Given the description of an element on the screen output the (x, y) to click on. 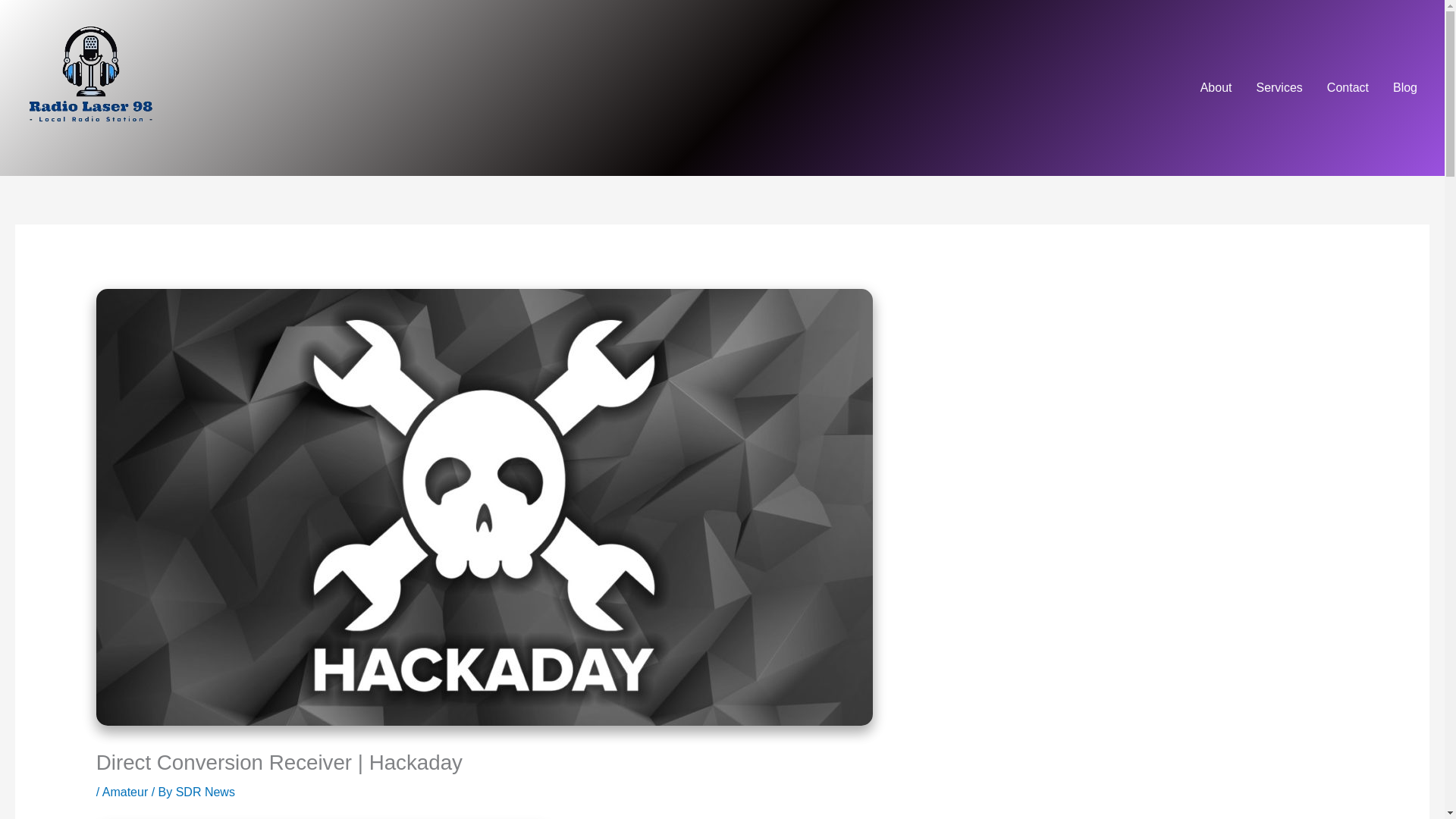
Amateur (124, 791)
Contact (1347, 87)
View all posts by SDR News (205, 791)
Blog (1404, 87)
Services (1278, 87)
About (1216, 87)
SDR News (205, 791)
